Given the description of an element on the screen output the (x, y) to click on. 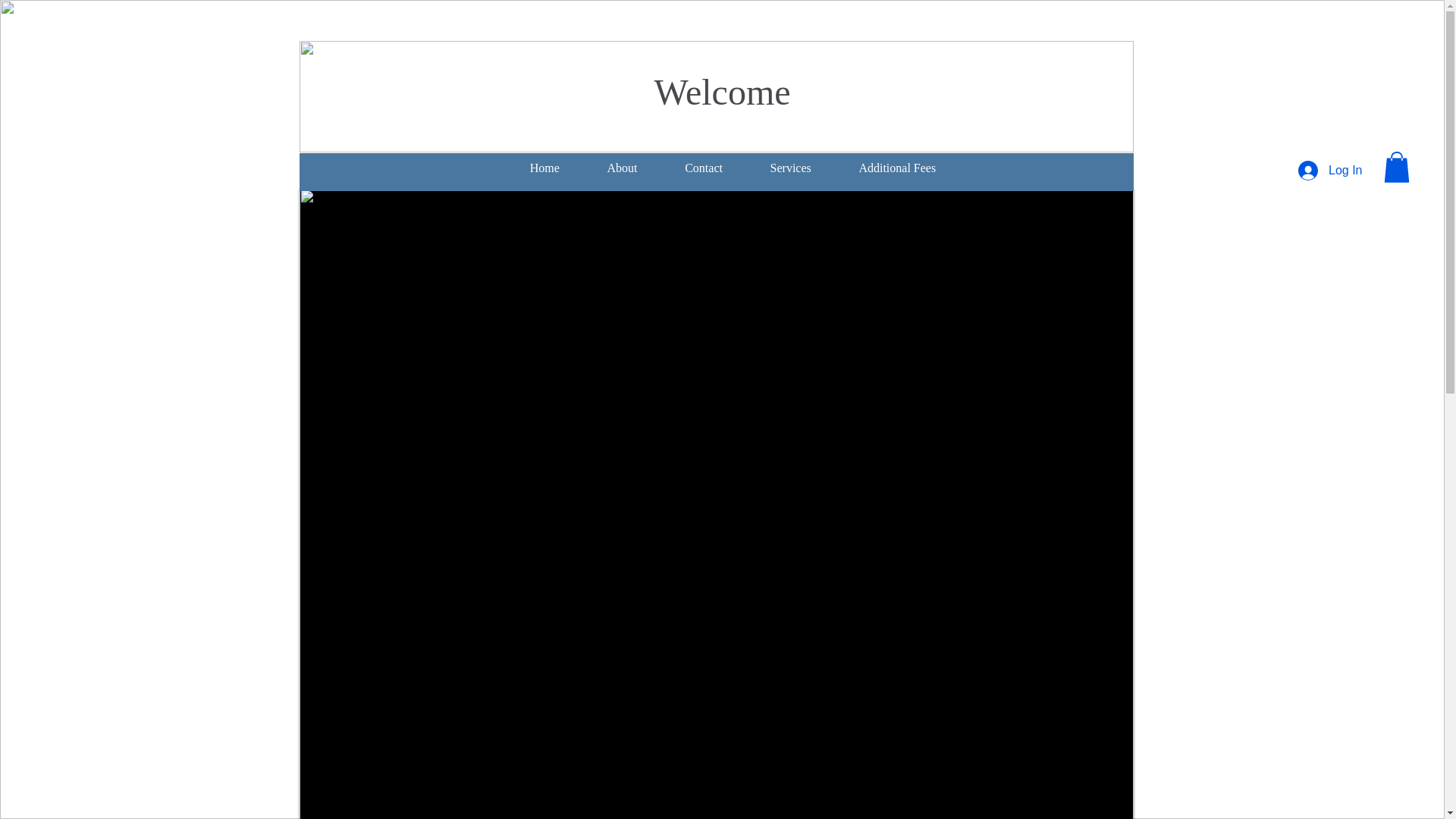
Services (789, 167)
About (622, 167)
Home (544, 167)
Contact (703, 167)
Log In (1330, 170)
Additional Fees (896, 167)
